Given the description of an element on the screen output the (x, y) to click on. 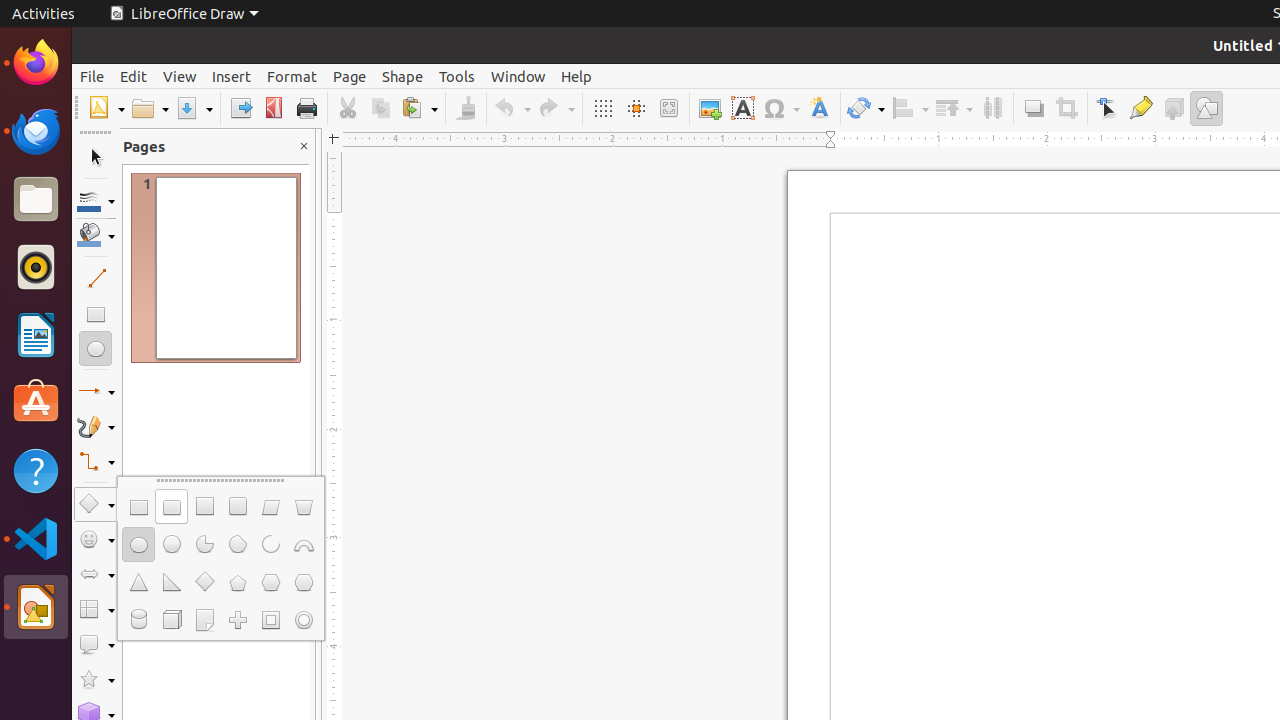
Distribution Element type: push-button (992, 108)
LibreOffice Draw Element type: menu (183, 13)
Close Pane Element type: push-button (303, 146)
Copy Element type: push-button (380, 108)
Toggle Extrusion Element type: push-button (1173, 108)
